Given the description of an element on the screen output the (x, y) to click on. 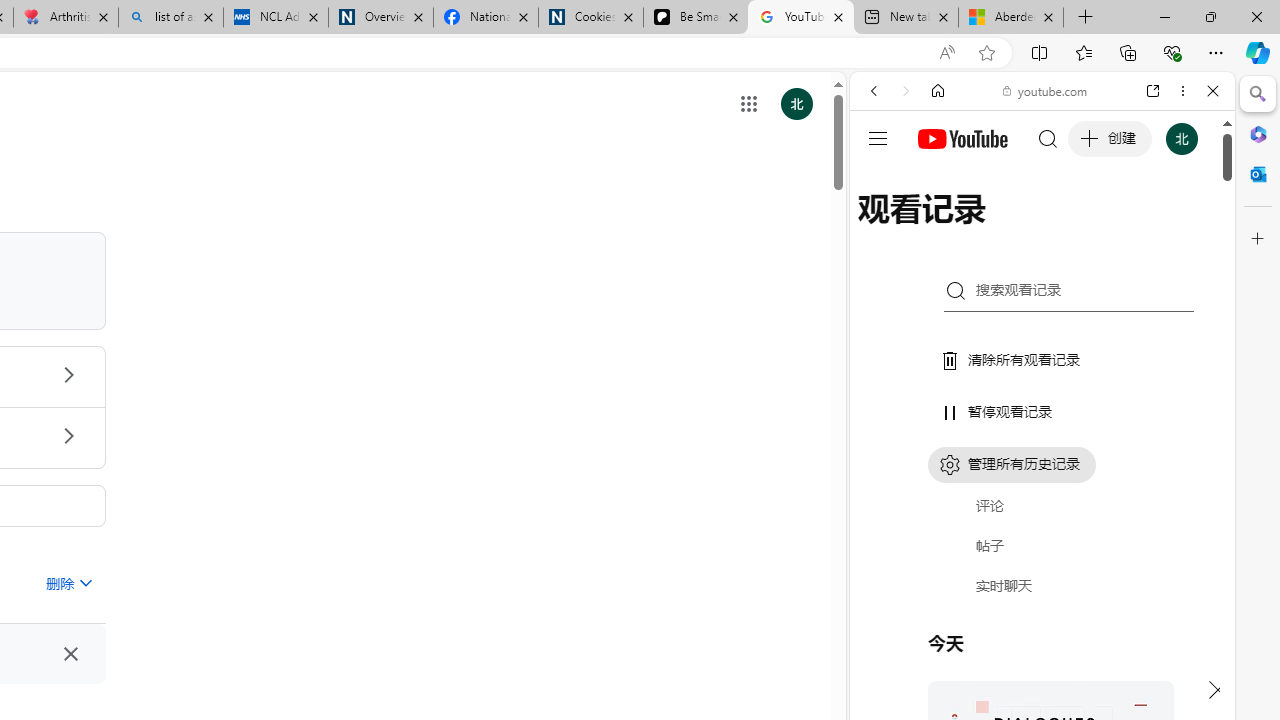
Class: b_serphb (1190, 229)
